Given the description of an element on the screen output the (x, y) to click on. 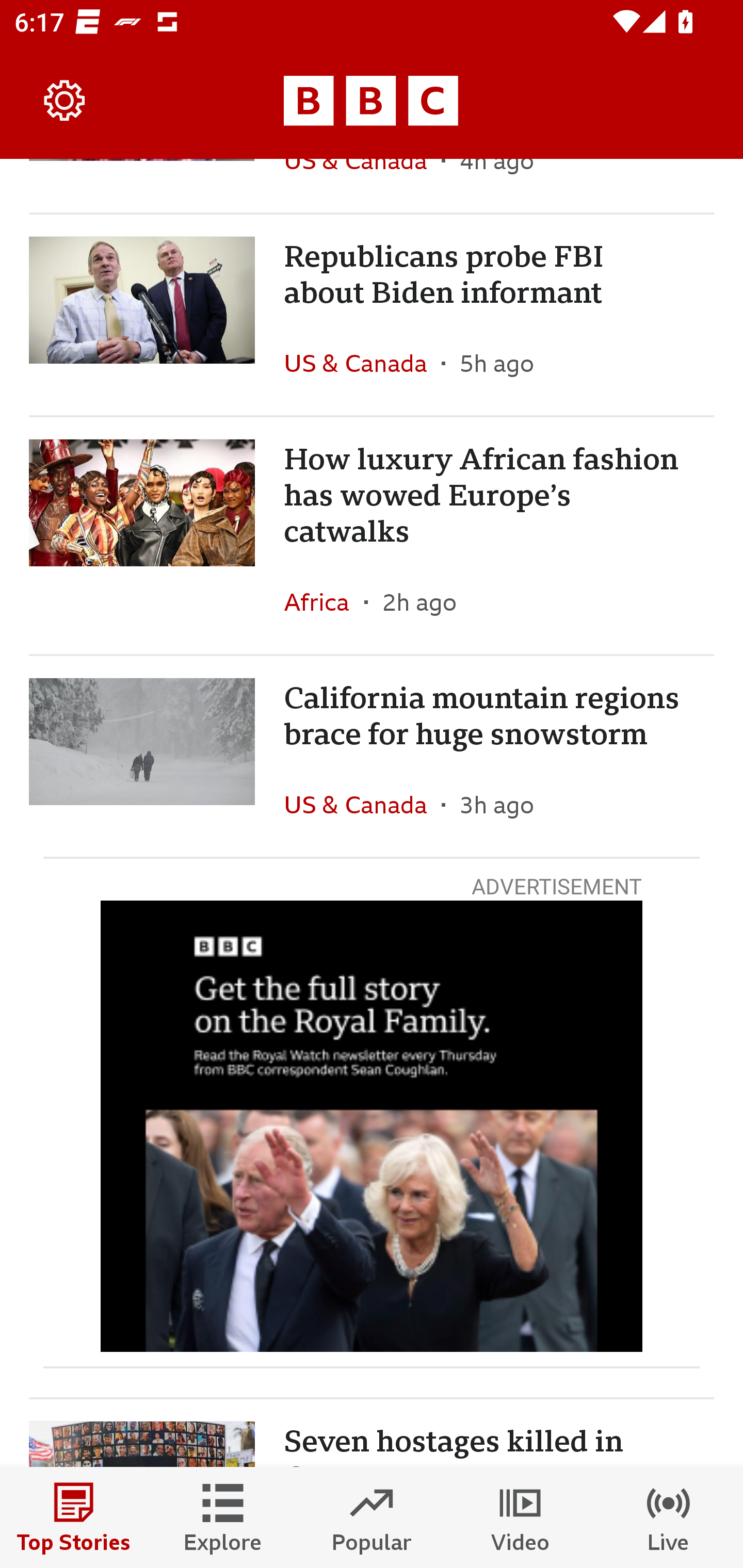
Settings (64, 100)
US & Canada In the section US & Canada (362, 362)
Africa In the section Africa (323, 601)
US & Canada In the section US & Canada (362, 804)
Explore (222, 1517)
Popular (371, 1517)
Video (519, 1517)
Live (668, 1517)
